Given the description of an element on the screen output the (x, y) to click on. 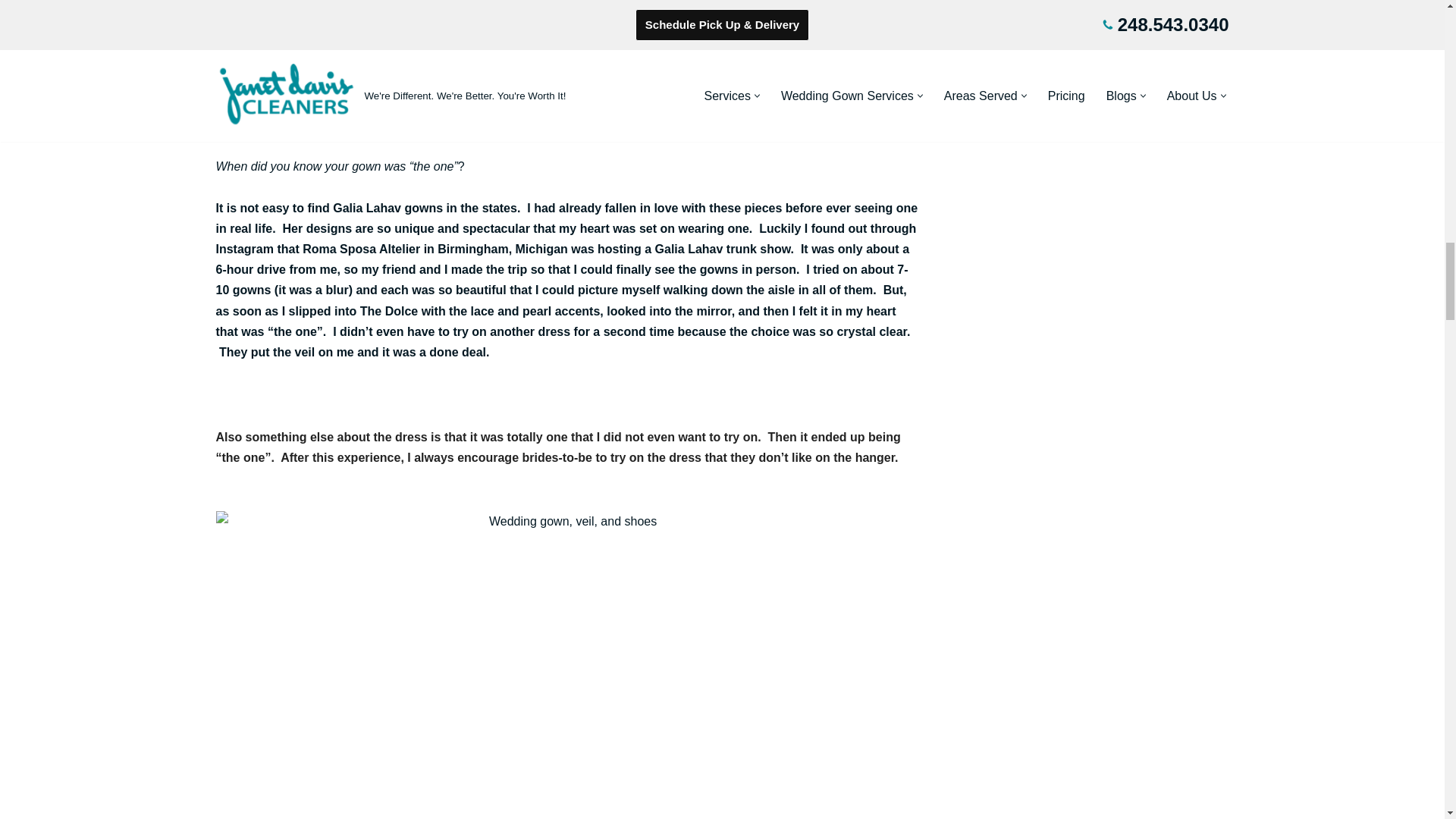
Black and white wedding portrait - Janet Davis Dry Cleaners (566, 56)
